Given the description of an element on the screen output the (x, y) to click on. 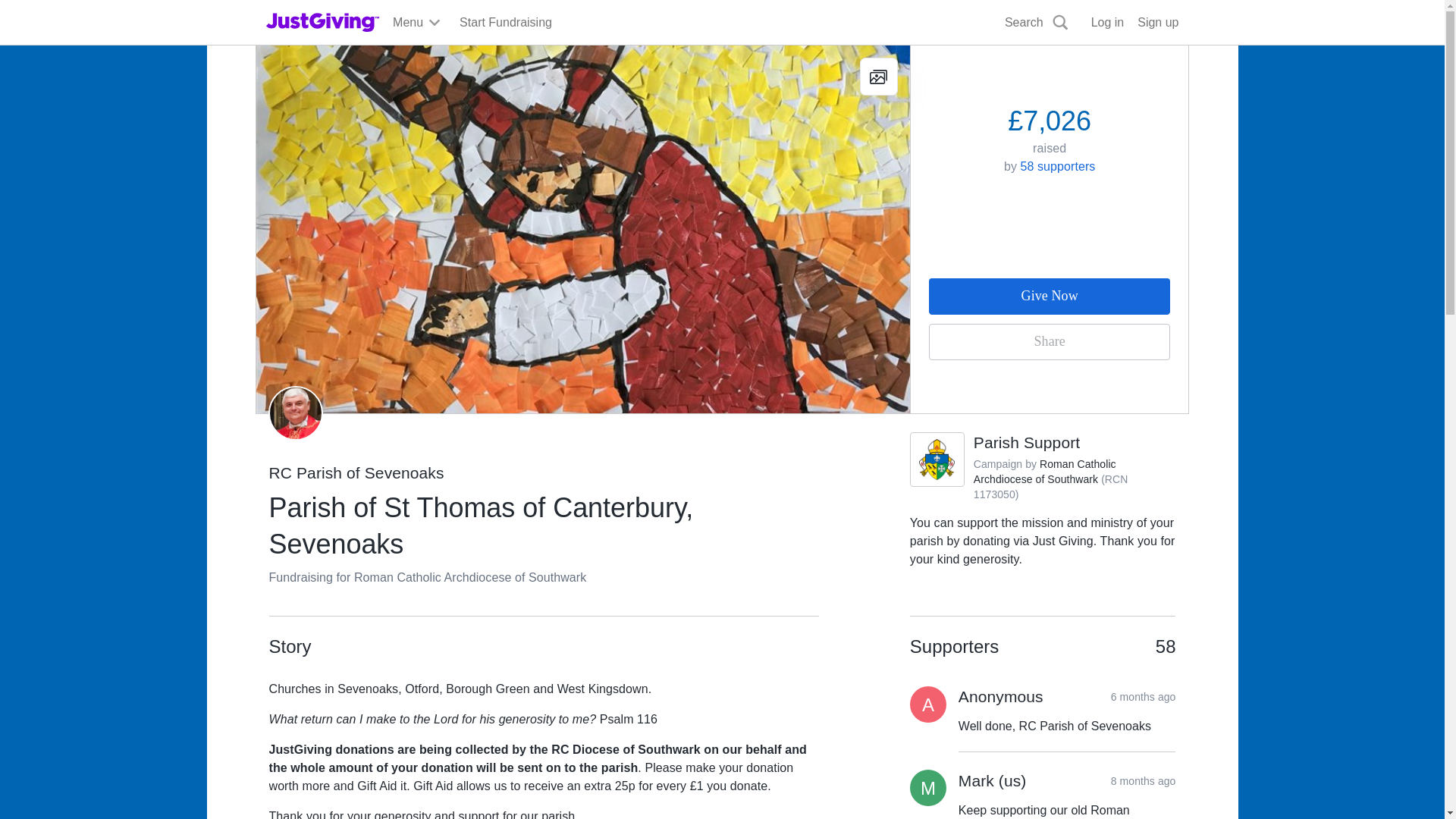
A (928, 704)
Roman Catholic Archdiocese of Southwark (1045, 471)
Share (1049, 341)
Search (1036, 22)
Search (919, 57)
Start Fundraising (505, 22)
Sign up (1157, 22)
M (928, 787)
Menu (416, 22)
58 supporters (1058, 165)
